Given the description of an element on the screen output the (x, y) to click on. 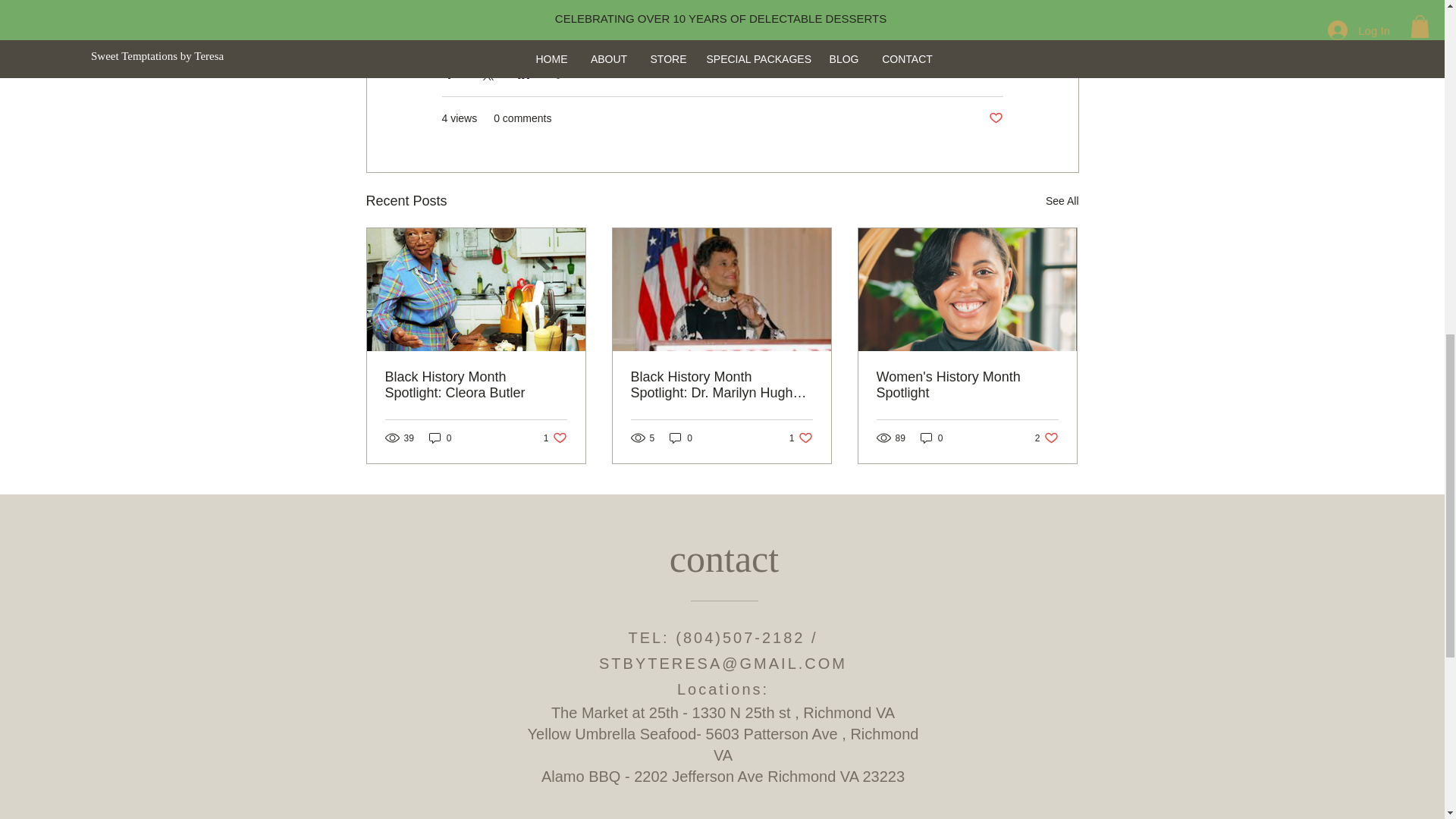
0 (440, 437)
Black History Month Spotlight: Dr. Marilyn Hughes Gaston (721, 385)
Women's History Month Spotlight (967, 385)
0 (555, 437)
0 (681, 437)
Post not marked as liked (931, 437)
See All (800, 437)
Black History Month Spotlight: Cleora Butler (1046, 437)
